Given the description of an element on the screen output the (x, y) to click on. 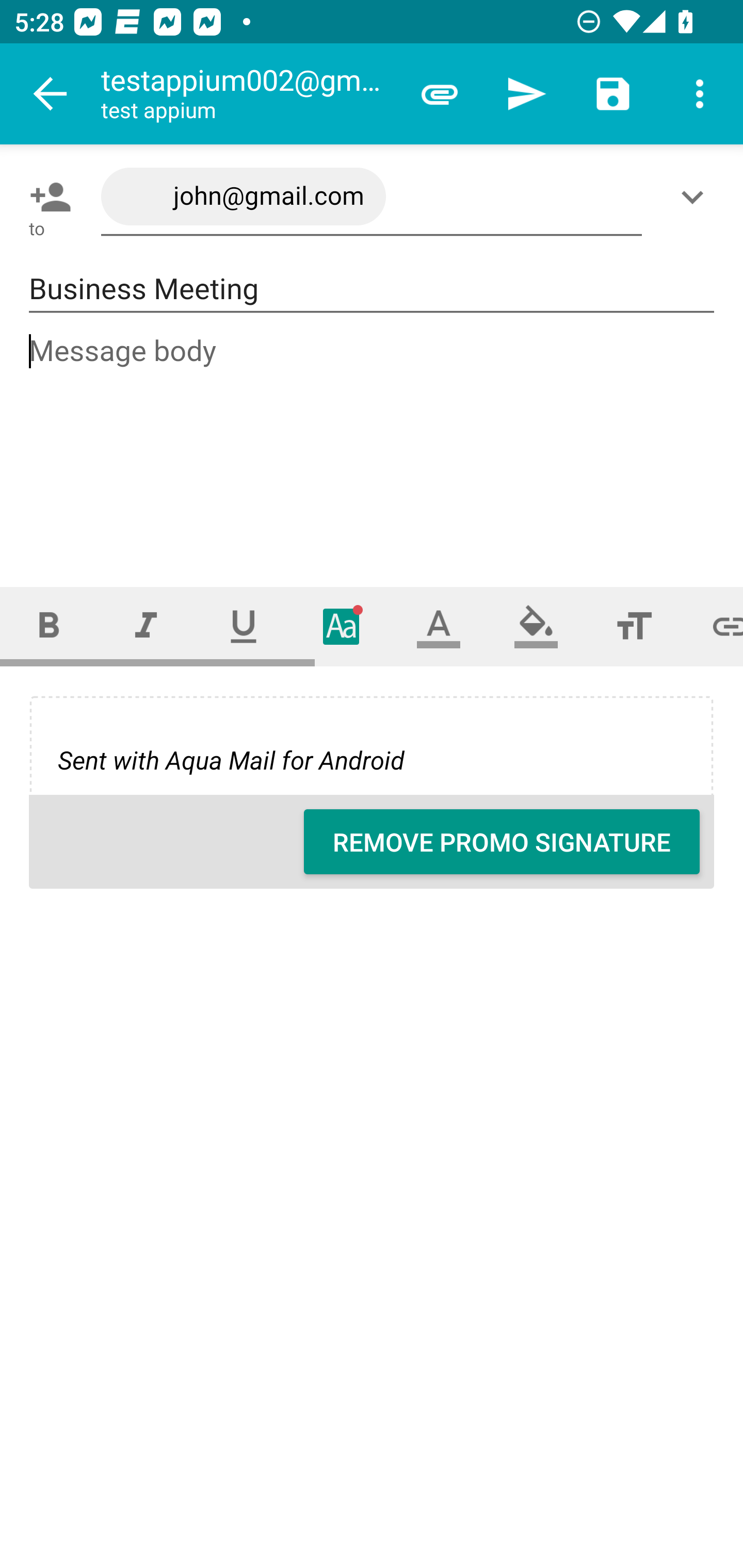
Navigate up (50, 93)
testappium002@gmail.com test appium (248, 93)
Attach (439, 93)
Send (525, 93)
Save (612, 93)
More options (699, 93)
john@gmail.com,  (371, 197)
Pick contact: To (46, 196)
Show/Add CC/BCC (696, 196)
Business Meeting (371, 288)
Message body (372, 442)
Bold (48, 626)
Italic (145, 626)
Underline (243, 626)
Typeface (font) (341, 626)
Text color (438, 626)
Fill color (536, 626)
Font size (633, 626)
Set link (712, 626)
REMOVE PROMO SIGNATURE (501, 841)
